Given the description of an element on the screen output the (x, y) to click on. 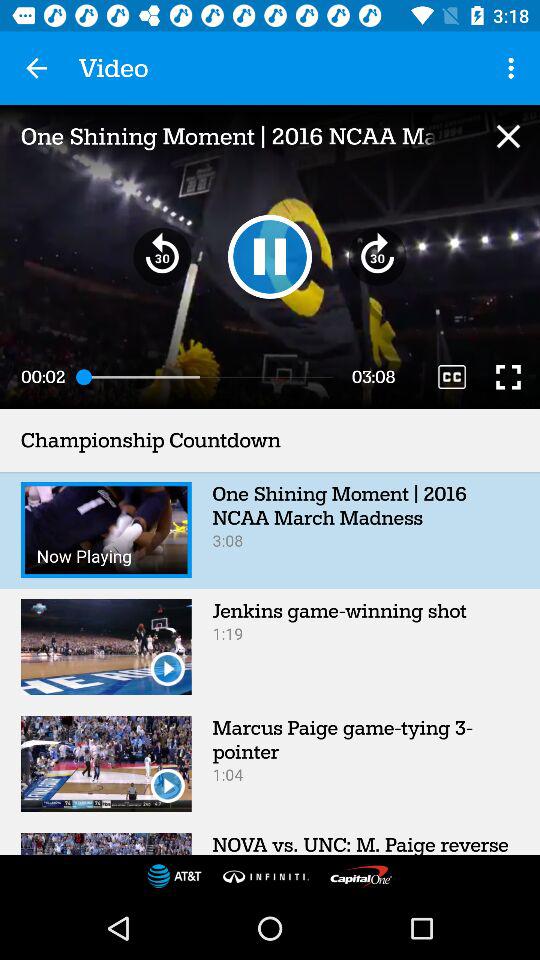
close the video (508, 136)
